Given the description of an element on the screen output the (x, y) to click on. 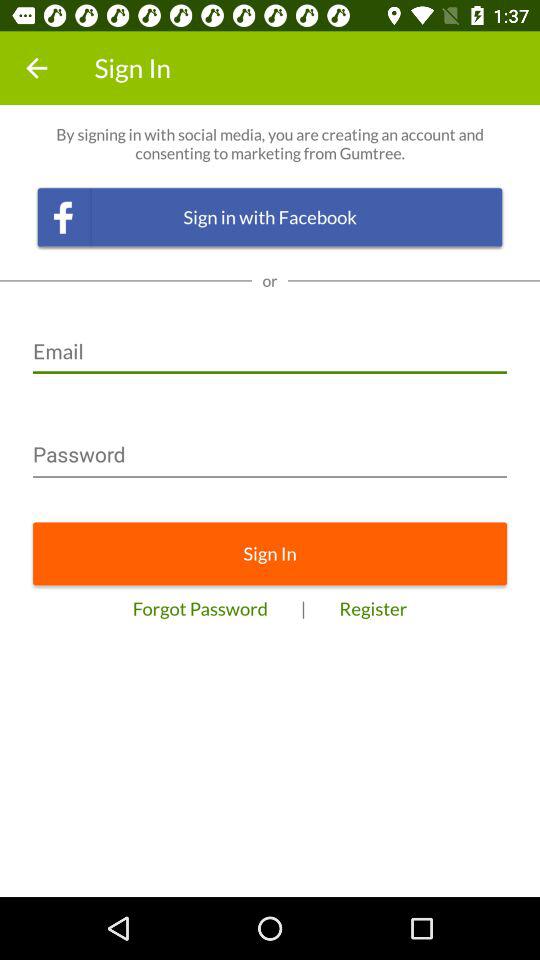
click item above by signing in item (36, 68)
